Given the description of an element on the screen output the (x, y) to click on. 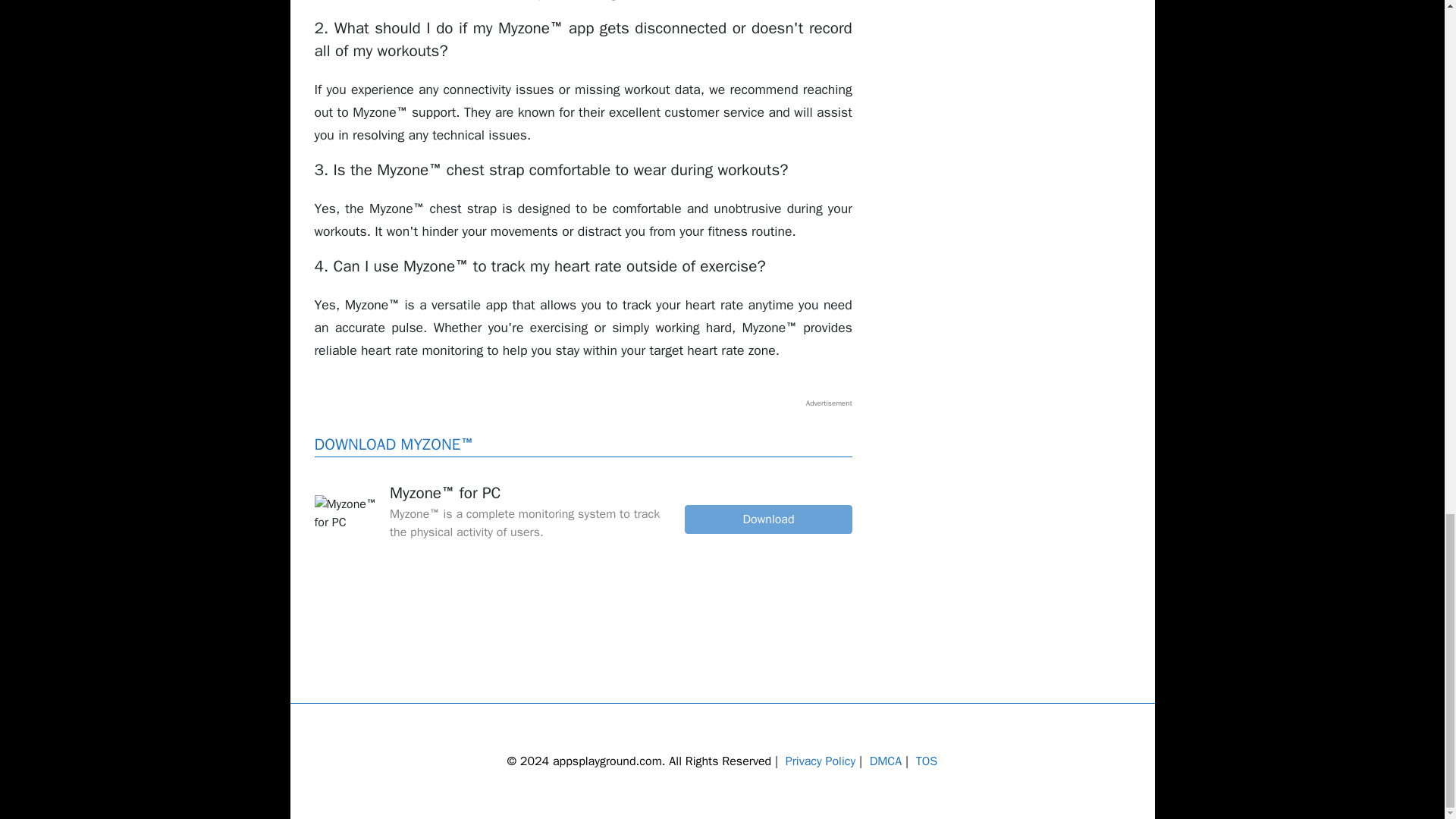
Download (767, 519)
DMCA (885, 761)
TOS (926, 761)
Privacy Policy (821, 761)
